Given the description of an element on the screen output the (x, y) to click on. 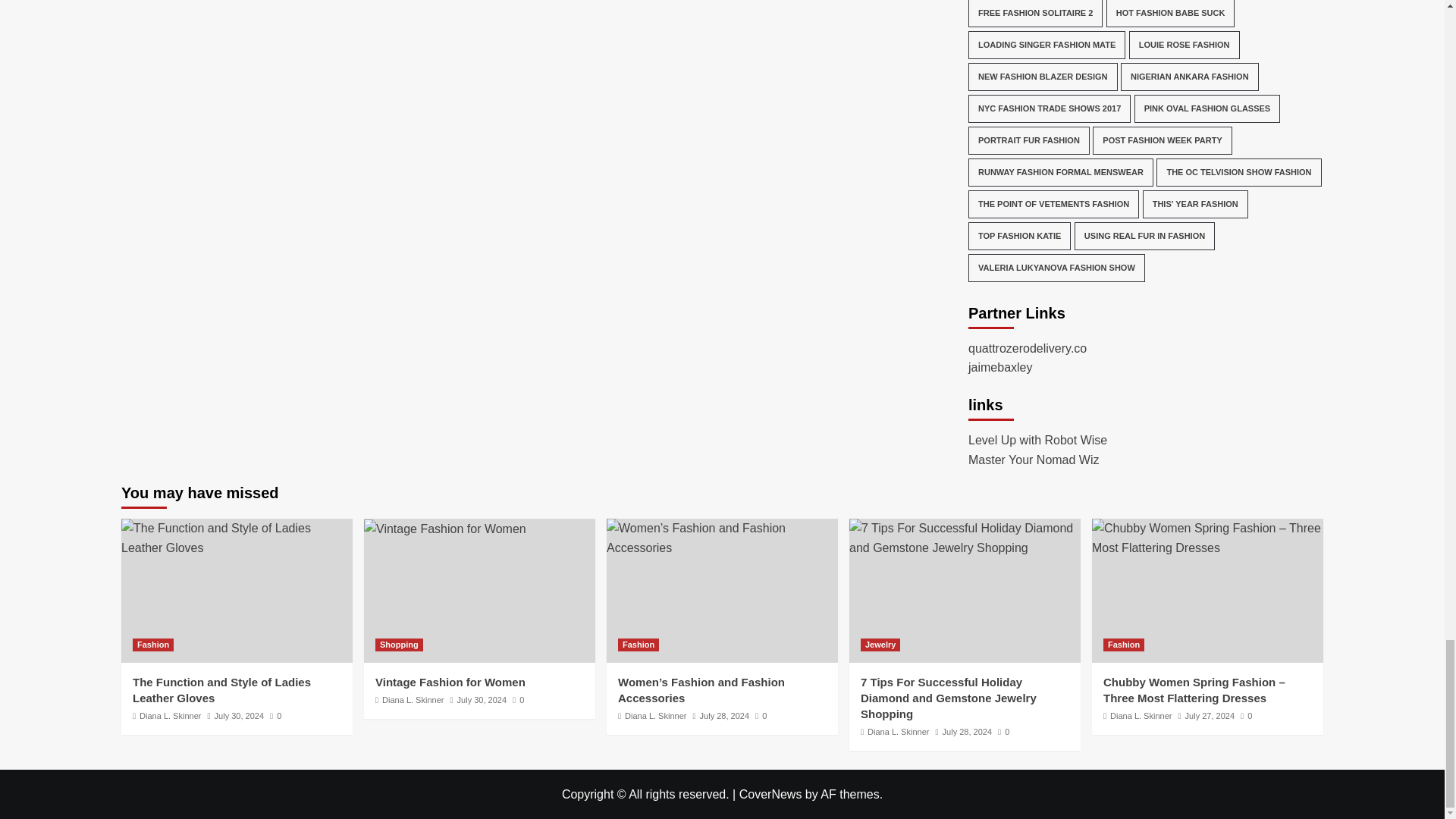
Vintage Fashion for Women (444, 528)
The Function and Style of Ladies Leather Gloves (236, 537)
